Given the description of an element on the screen output the (x, y) to click on. 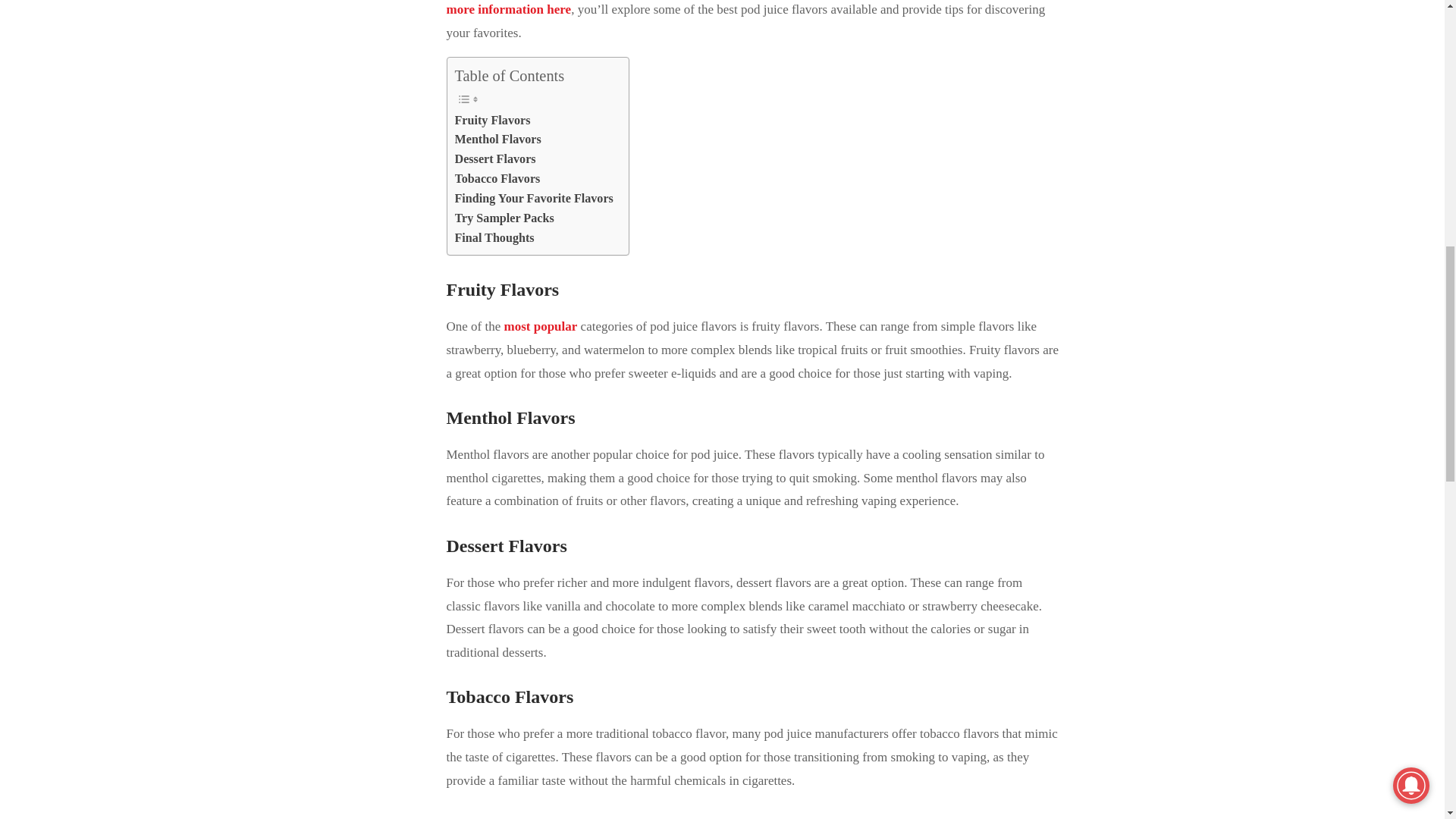
Finding Your Favorite Flavors (533, 198)
Dessert Flavors (494, 158)
Tobacco Flavors (497, 178)
Menthol Flavors (497, 139)
Try Sampler Packs (504, 218)
Fruity Flavors (492, 120)
Final Thoughts (494, 238)
